Given the description of an element on the screen output the (x, y) to click on. 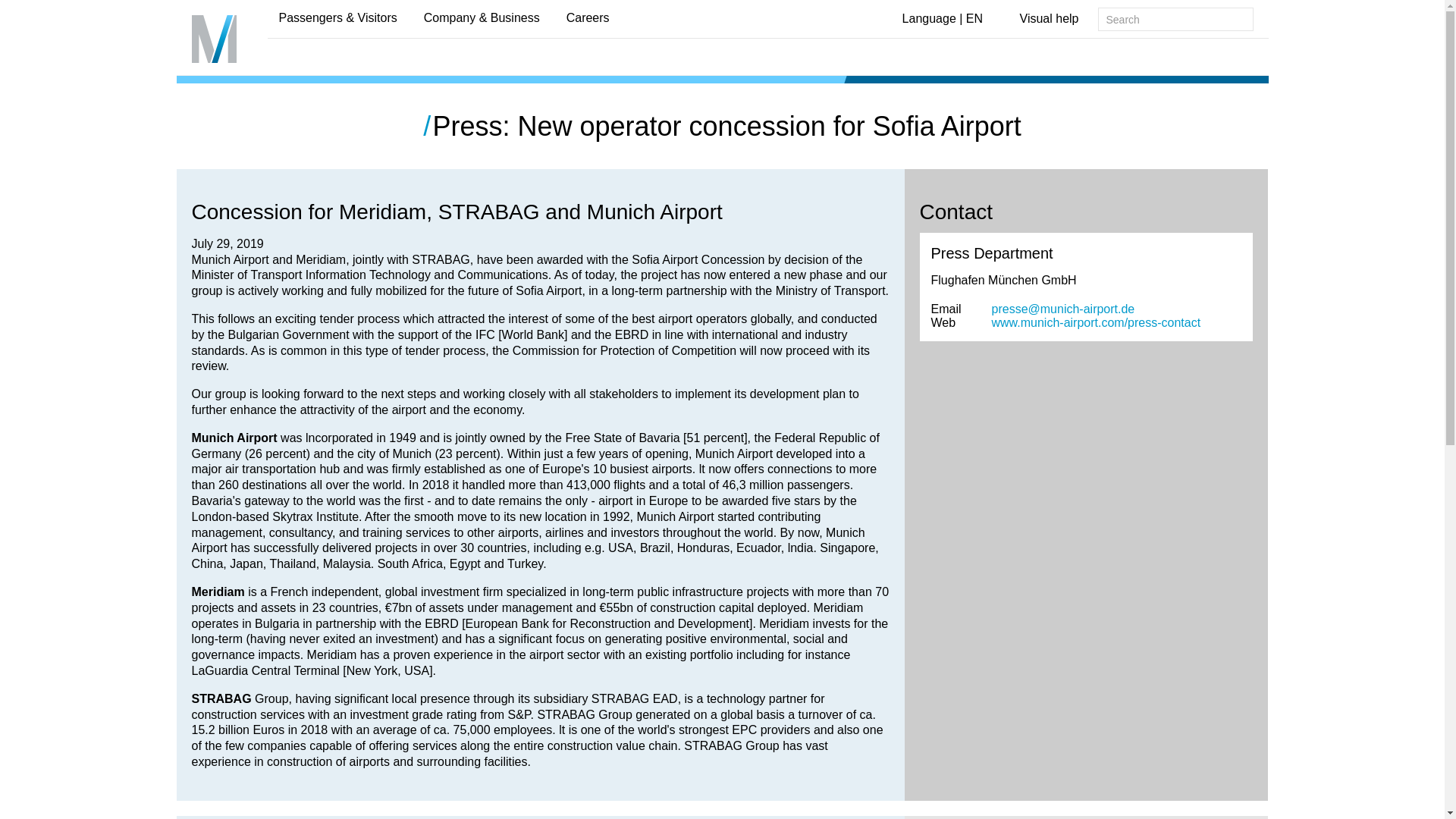
Careers (582, 18)
Munich Airport logo (212, 39)
Visual help (1048, 20)
